Given the description of an element on the screen output the (x, y) to click on. 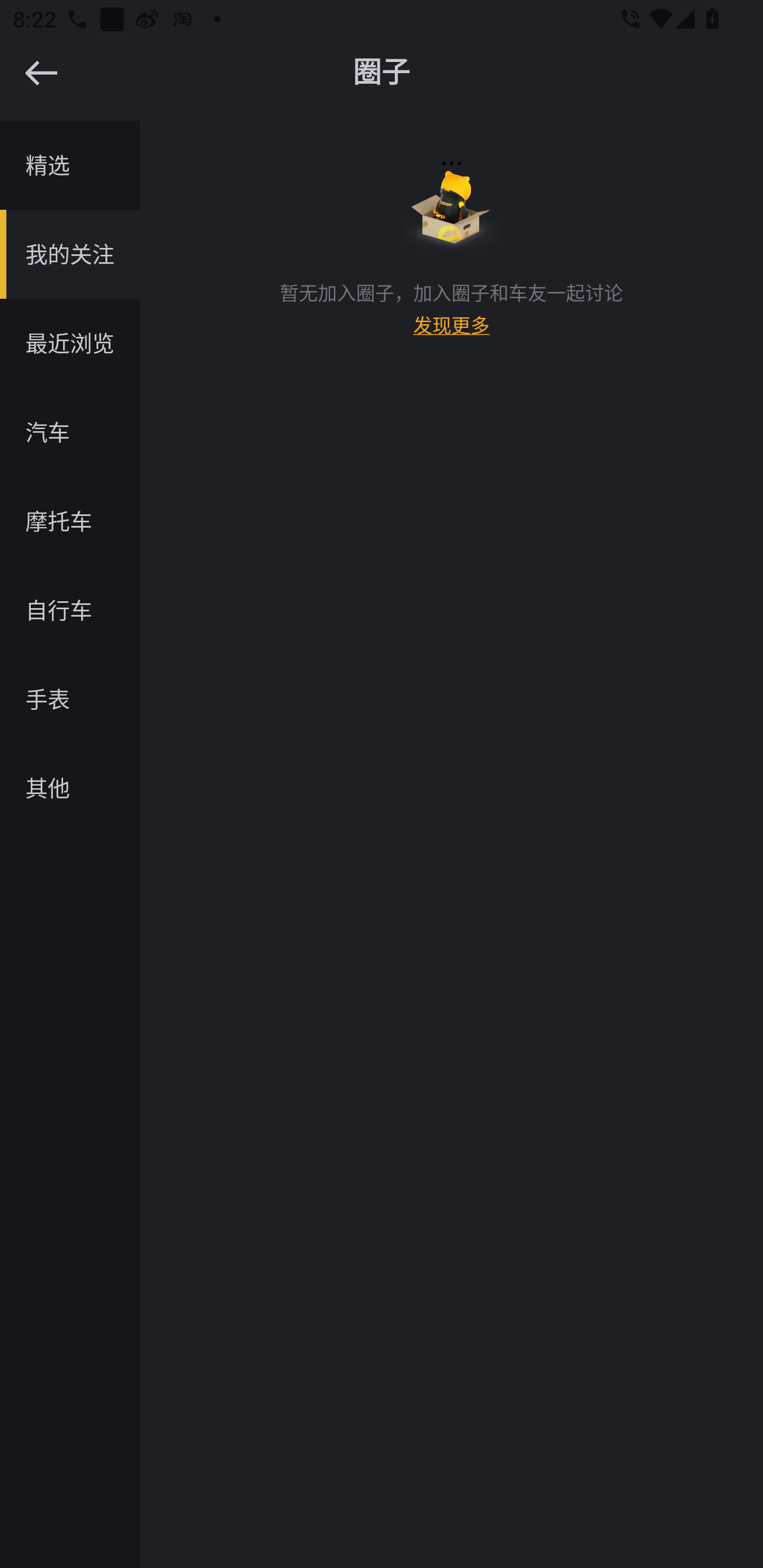
精选 (69, 165)
我的关注 (69, 254)
最近浏览 (69, 343)
发现更多 (451, 333)
汽车 (69, 431)
摩托车 (69, 521)
自行车 (69, 610)
手表 (69, 699)
其他 (69, 787)
